Given the description of an element on the screen output the (x, y) to click on. 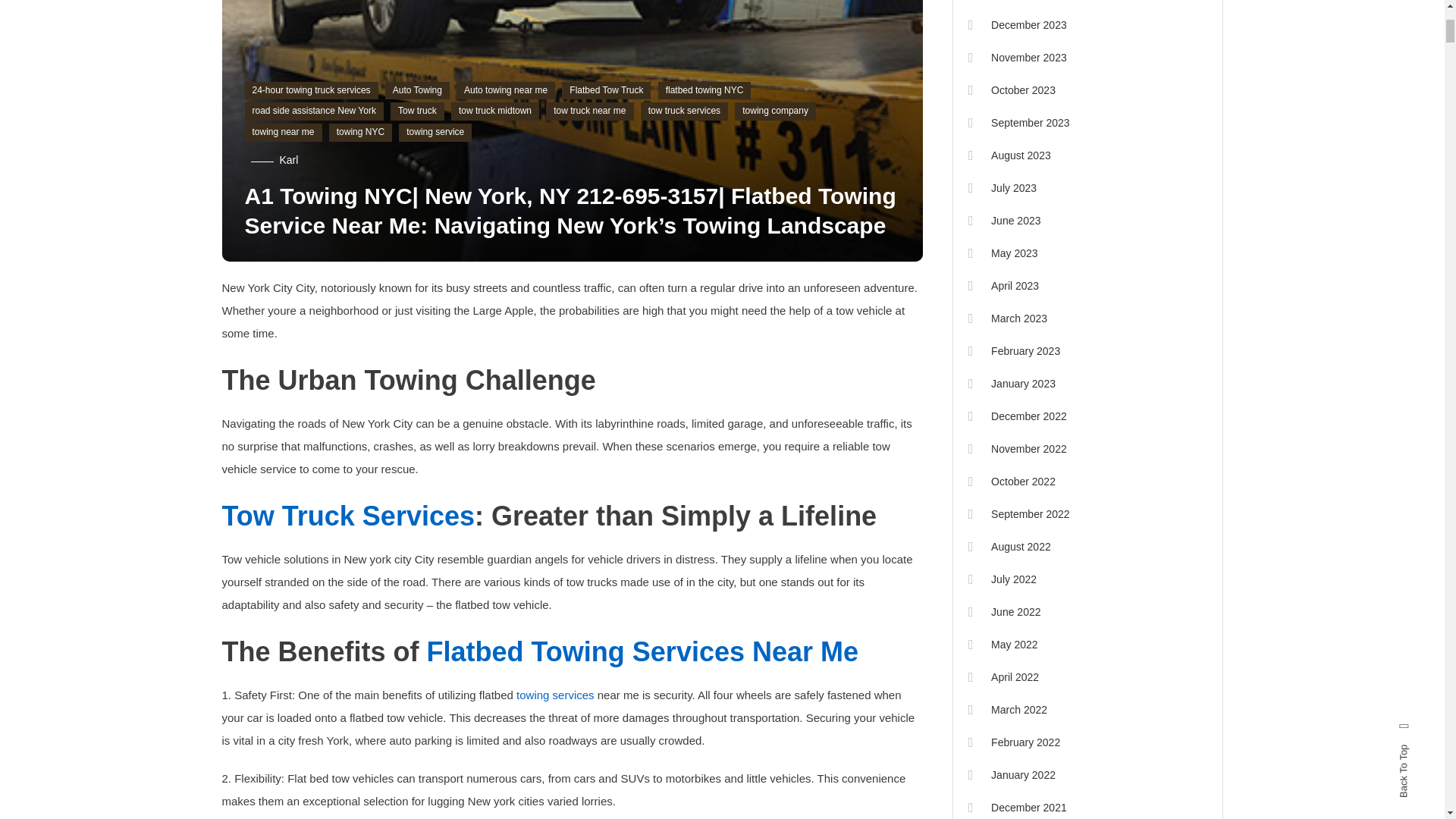
Auto Towing (417, 90)
24-hour towing truck services (310, 90)
Auto towing near me (505, 90)
